Given the description of an element on the screen output the (x, y) to click on. 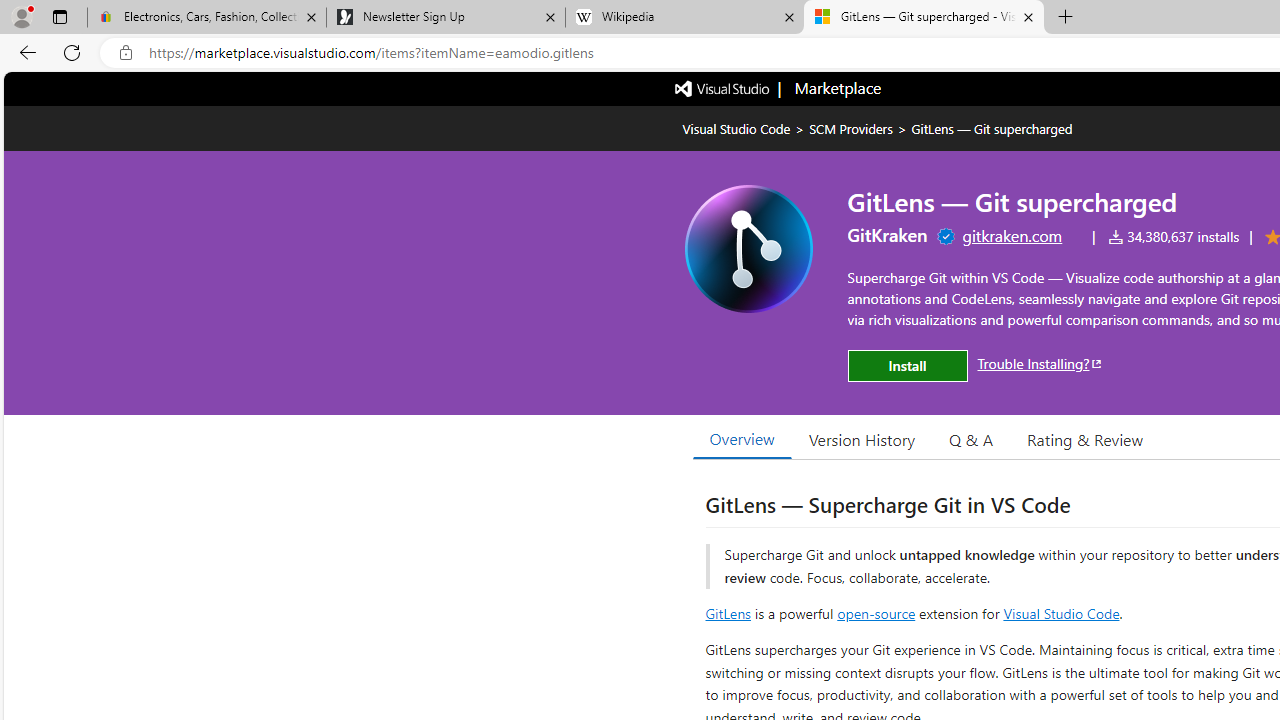
SCM Providers (850, 128)
gitkraken.com (1012, 235)
Install (907, 365)
open-source (876, 612)
Visual Studio logo (723, 87)
